Given the description of an element on the screen output the (x, y) to click on. 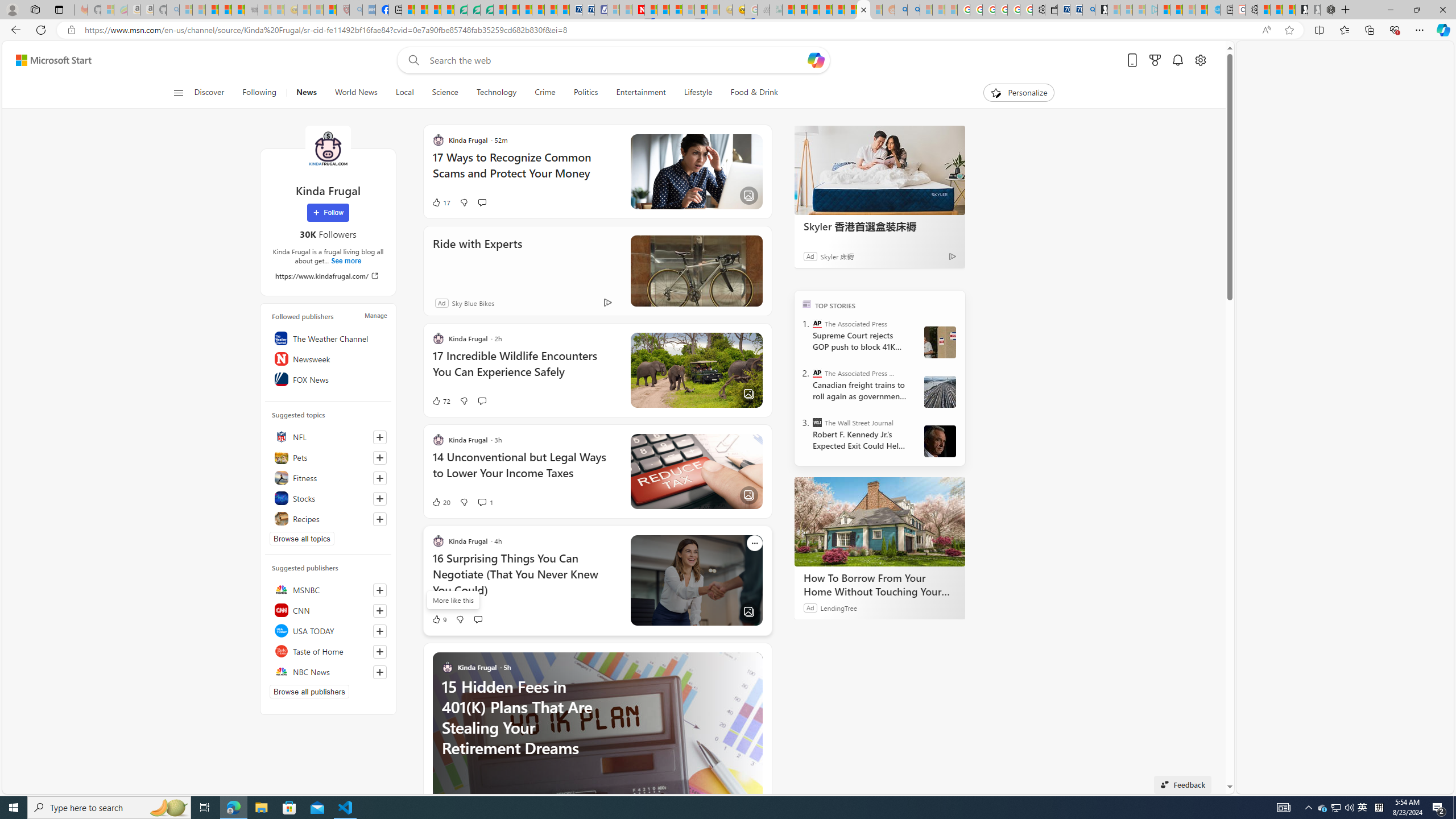
Browse all publishers (309, 691)
CNN (327, 609)
Utah sues federal government - Search (913, 9)
Bing Real Estate - Home sales and rental listings (1088, 9)
Politics (585, 92)
Start the conversation (478, 619)
